Given the description of an element on the screen output the (x, y) to click on. 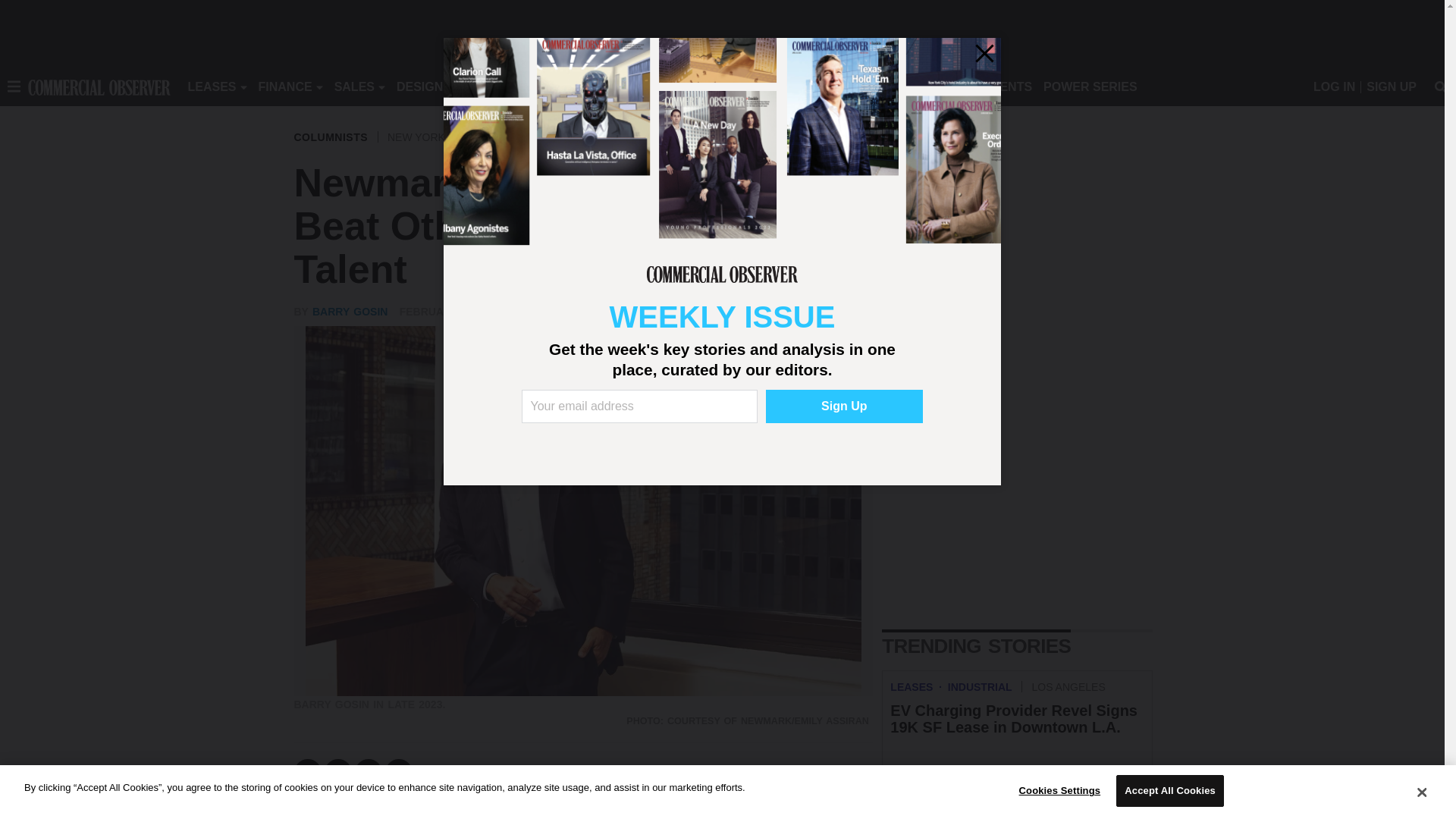
FINANCE (286, 86)
Posts by Barry Gosin (350, 311)
SALES (354, 86)
Share on LinkedIn (368, 772)
TECHNOLOGY (619, 86)
Tweet (338, 772)
Commercial Observer Home (98, 86)
Send email (398, 772)
LEASES (211, 86)
Share on Facebook (307, 772)
MORE (691, 86)
